Given the description of an element on the screen output the (x, y) to click on. 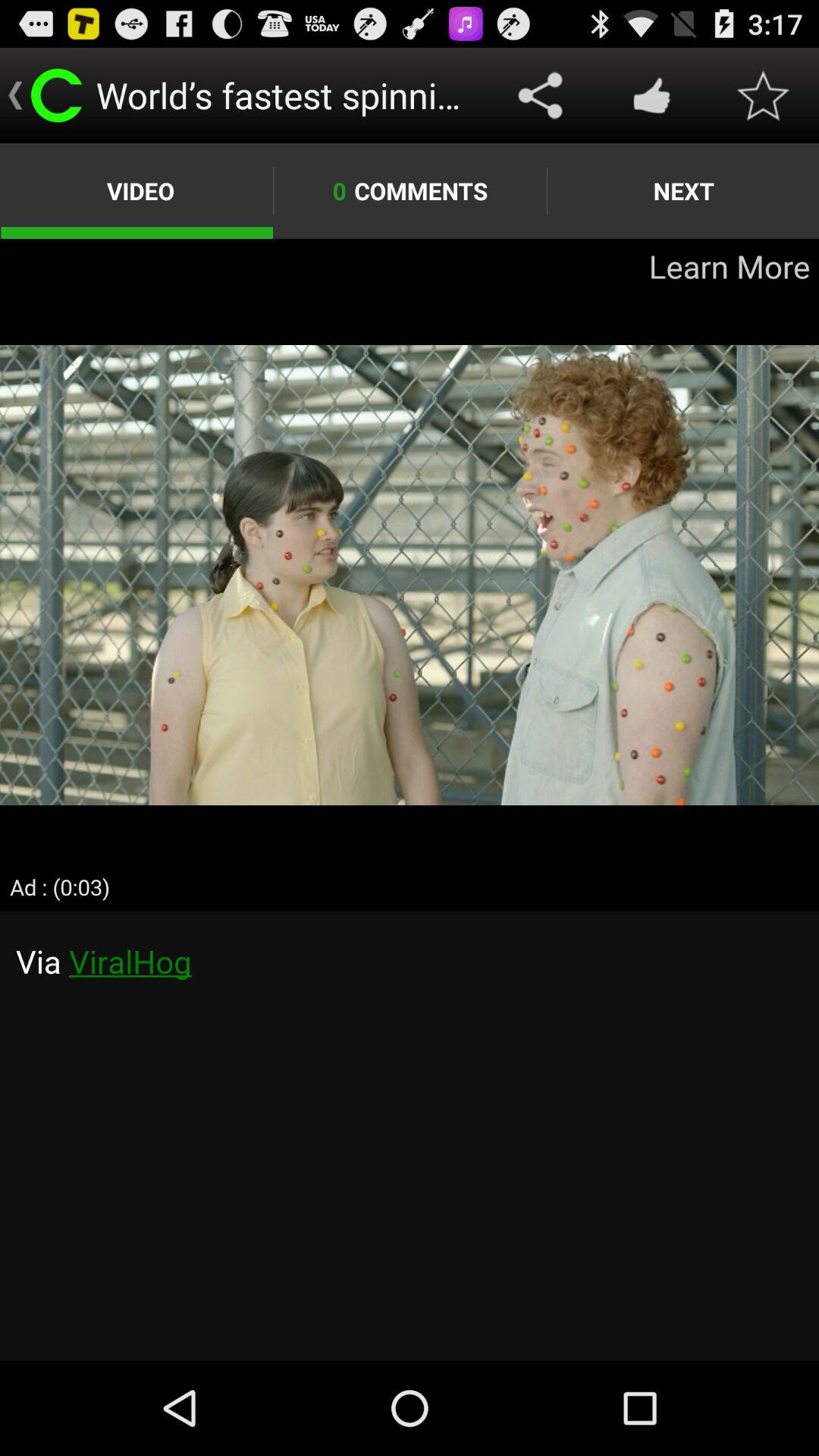
open viralhog profile (409, 1135)
